Given the description of an element on the screen output the (x, y) to click on. 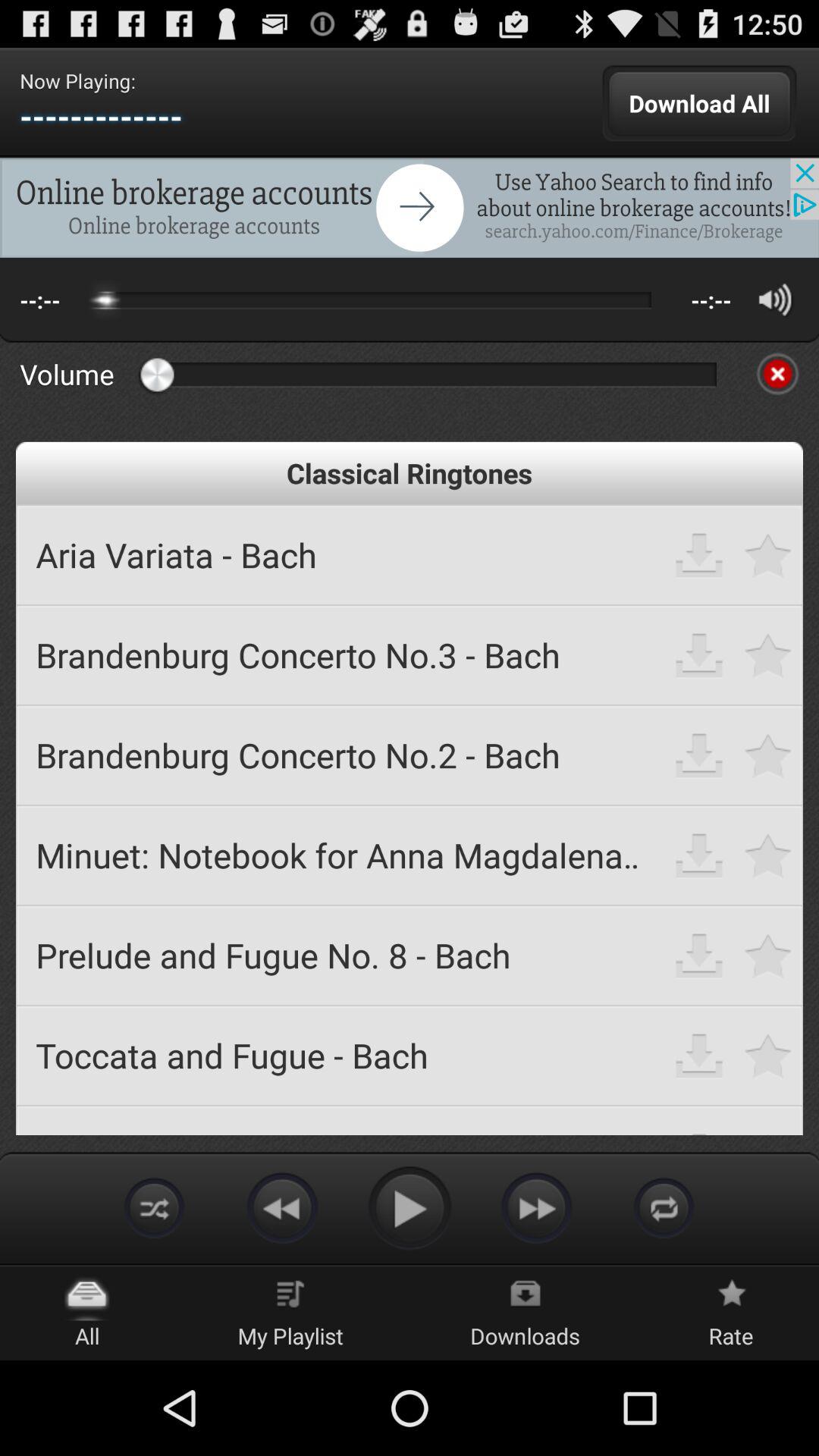
rewind button (281, 1207)
